Given the description of an element on the screen output the (x, y) to click on. 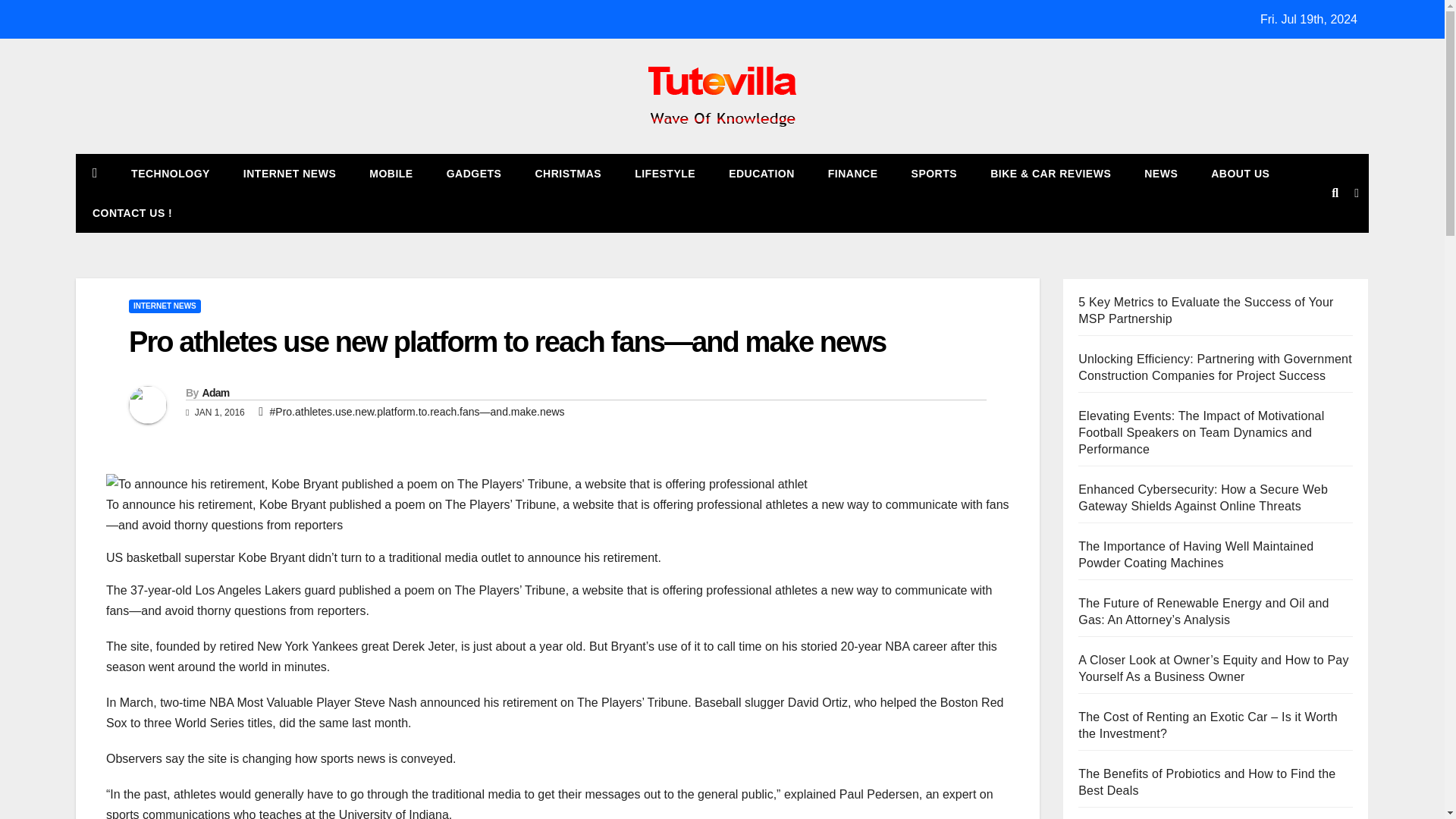
ABOUT US (1239, 173)
INTERNET NEWS (289, 173)
News (1159, 173)
About Us (1239, 173)
Education (760, 173)
GADGETS (473, 173)
Lifestyle (664, 173)
Mobile (390, 173)
FINANCE (852, 173)
TECHNOLOGY (171, 173)
SPORTS (934, 173)
CONTACT US ! (132, 212)
christmas (567, 173)
CHRISTMAS (567, 173)
Adam (215, 392)
